Given the description of an element on the screen output the (x, y) to click on. 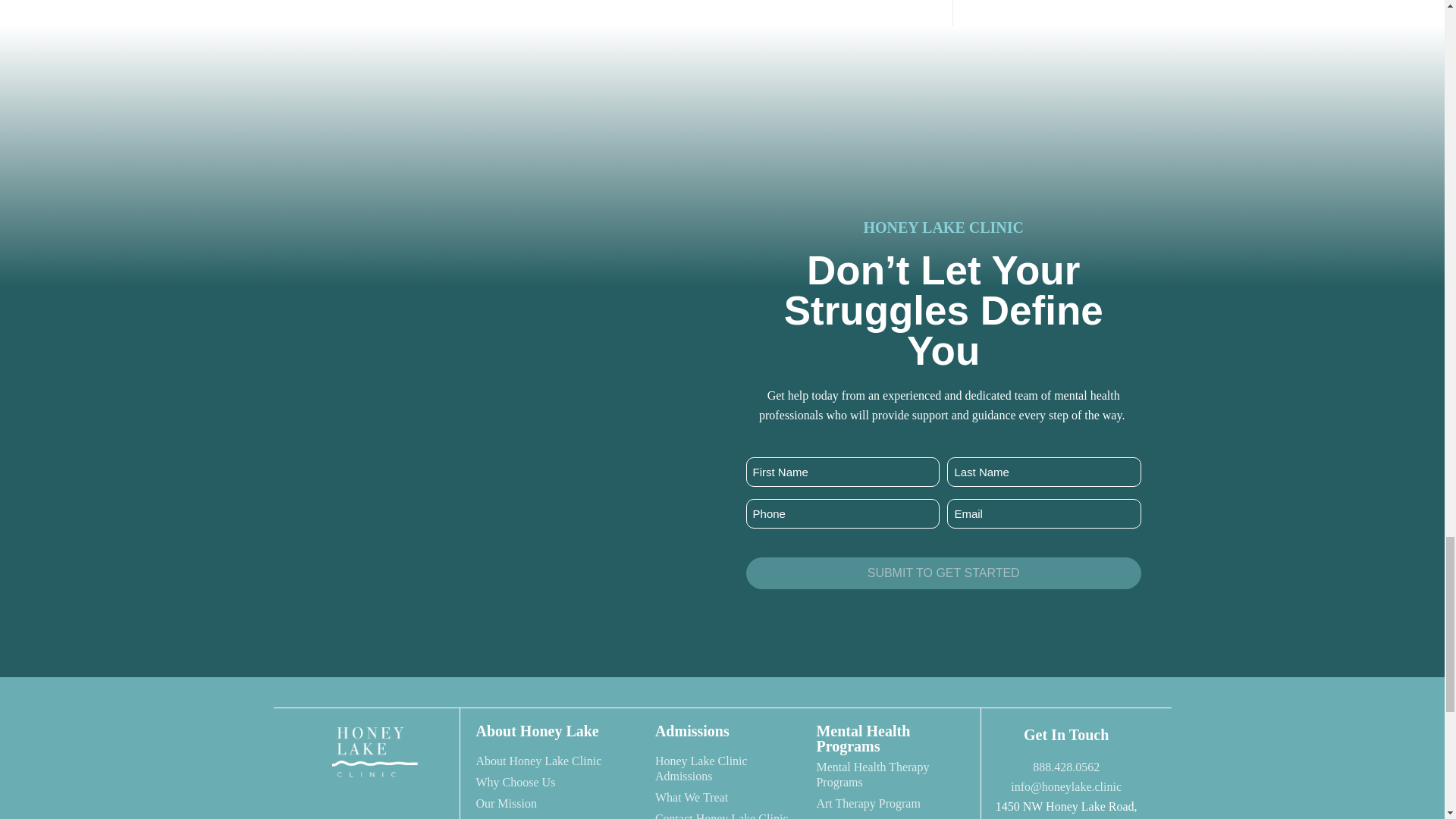
Honey Lake Logo White (373, 752)
SUBMIT TO GET STARTED (943, 572)
Tagline (374, 805)
Siggle (943, 194)
